Given the description of an element on the screen output the (x, y) to click on. 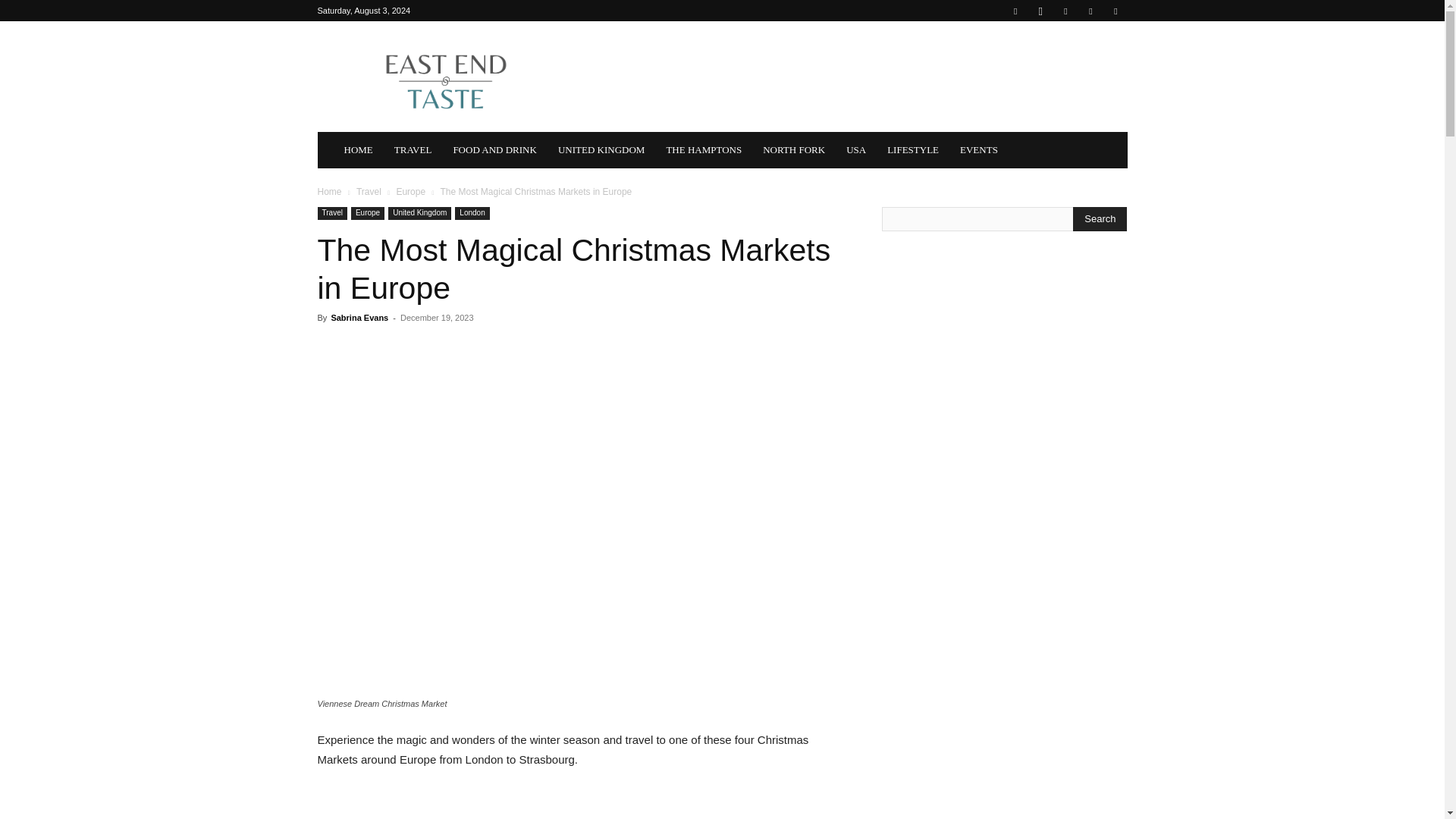
Pinterest (1065, 10)
Search (1099, 218)
Facebook (1015, 10)
Reddit (1090, 10)
Twitter (1114, 10)
Instagram (1040, 10)
